Given the description of an element on the screen output the (x, y) to click on. 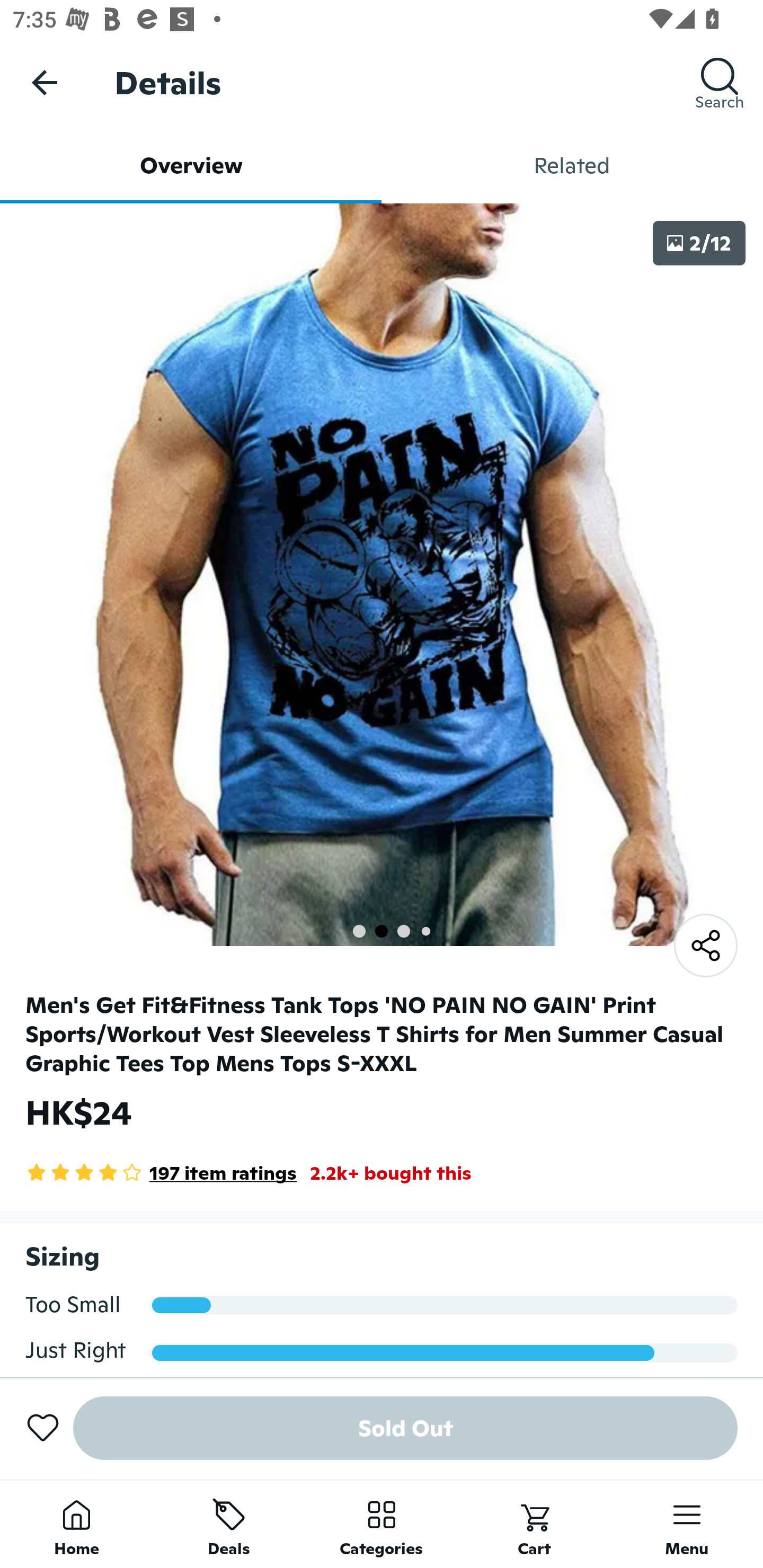
Navigate up (44, 82)
Search (719, 82)
Related (572, 165)
2/12 (699, 242)
4.2 Star Rating 197 item ratings (161, 1172)
Sold Out (405, 1428)
Home (76, 1523)
Deals (228, 1523)
Categories (381, 1523)
Cart (533, 1523)
Menu (686, 1523)
